Given the description of an element on the screen output the (x, y) to click on. 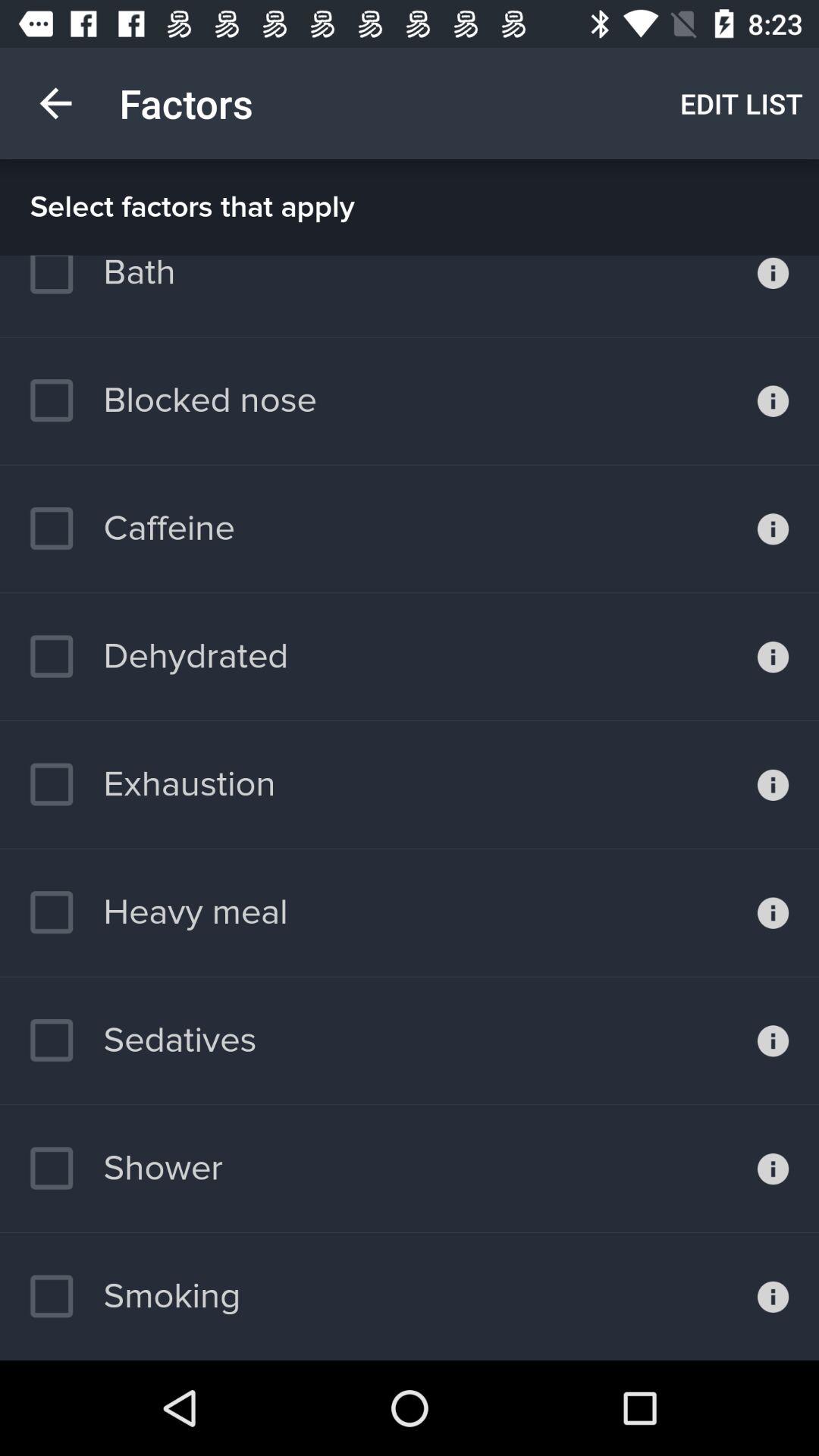
tap icon above the dehydrated item (132, 528)
